Given the description of an element on the screen output the (x, y) to click on. 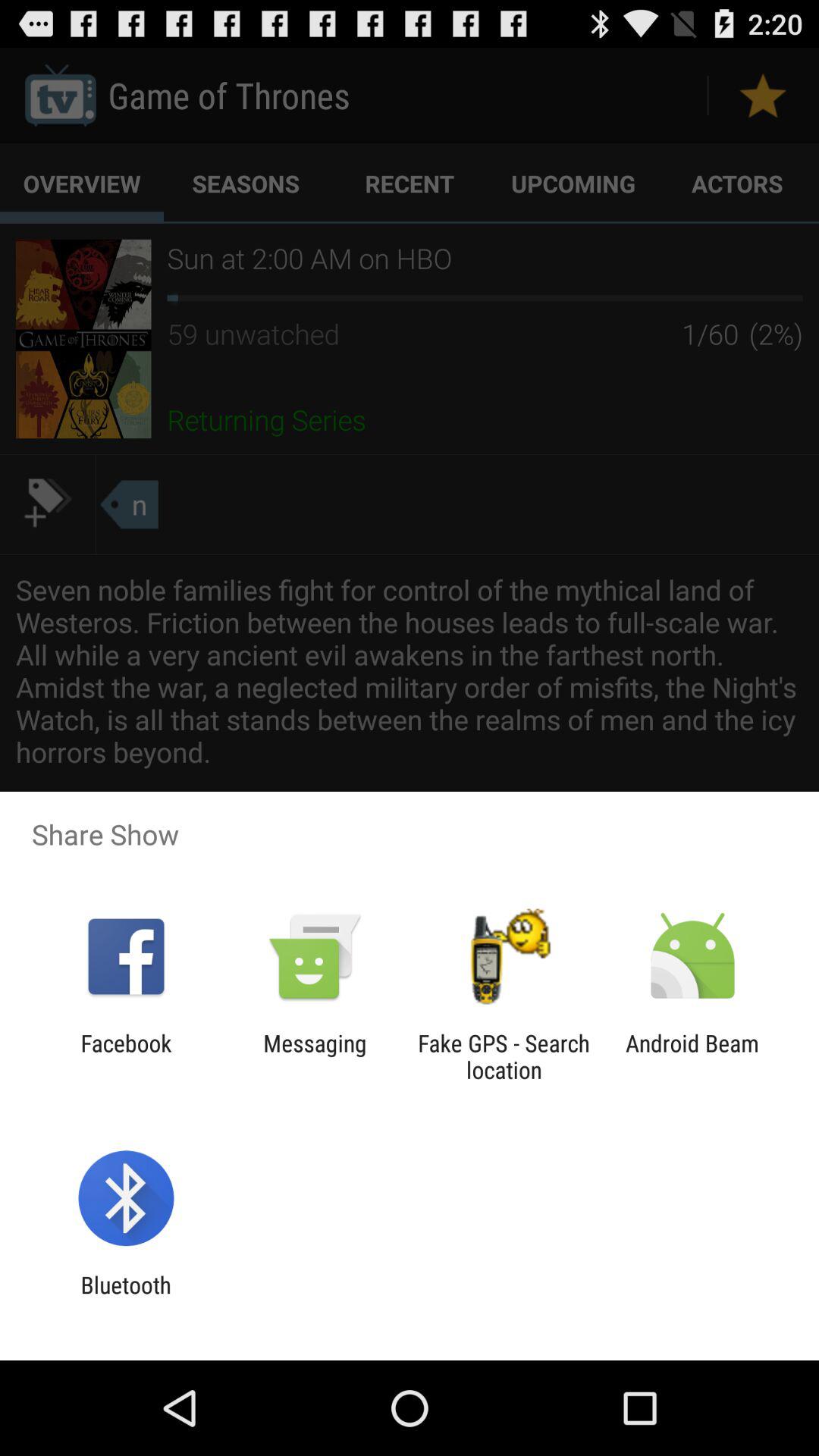
press the icon next to messaging item (125, 1056)
